Given the description of an element on the screen output the (x, y) to click on. 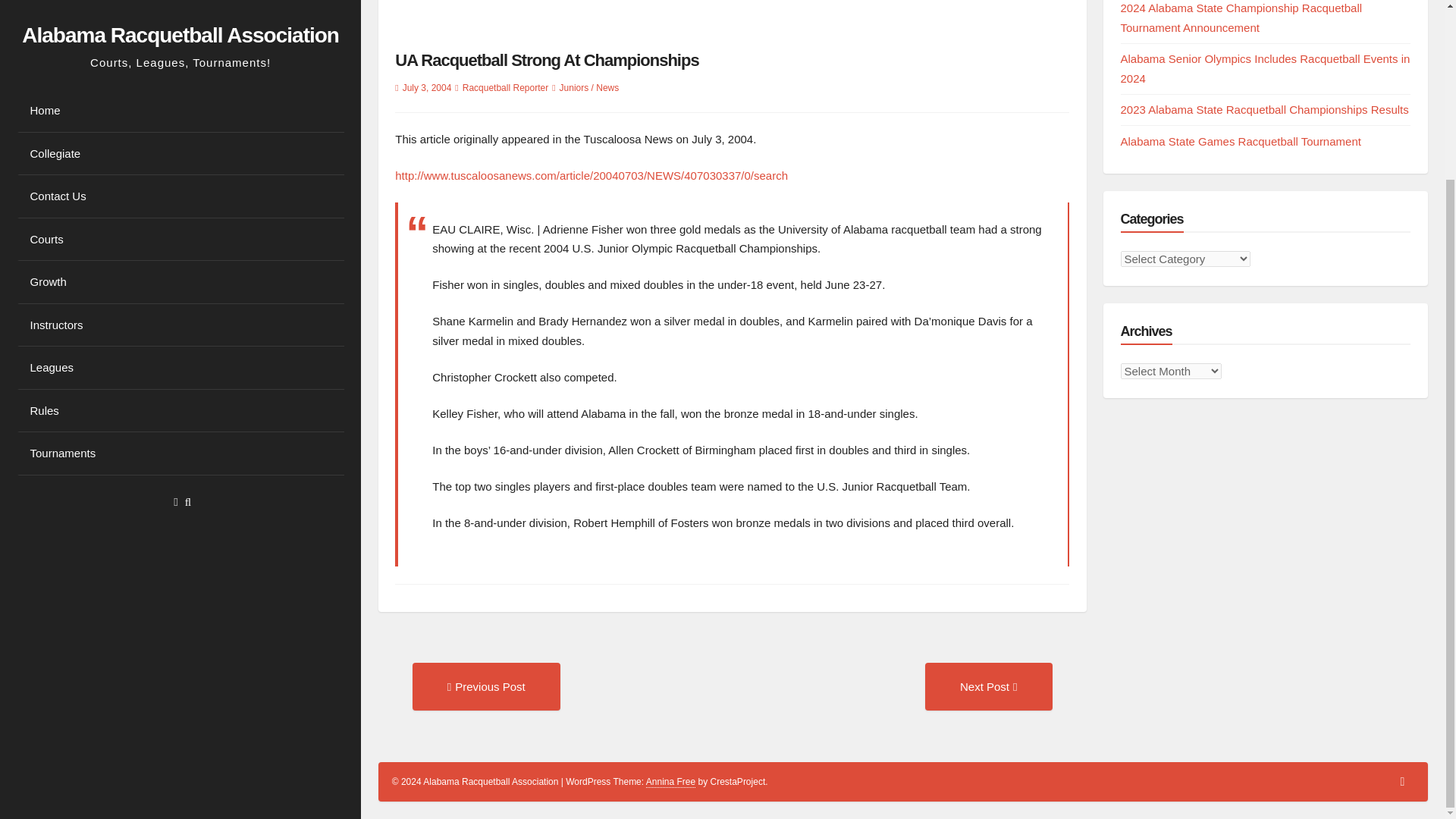
Leagues (179, 148)
Alabama Senior Olympics Includes Racquetball Events in 2024 (1265, 68)
Racquetball Reporter (505, 87)
Growth (179, 63)
Tournaments (179, 234)
Annina Theme (670, 781)
Rules (179, 191)
Courts (179, 21)
Instructors (179, 106)
